Given the description of an element on the screen output the (x, y) to click on. 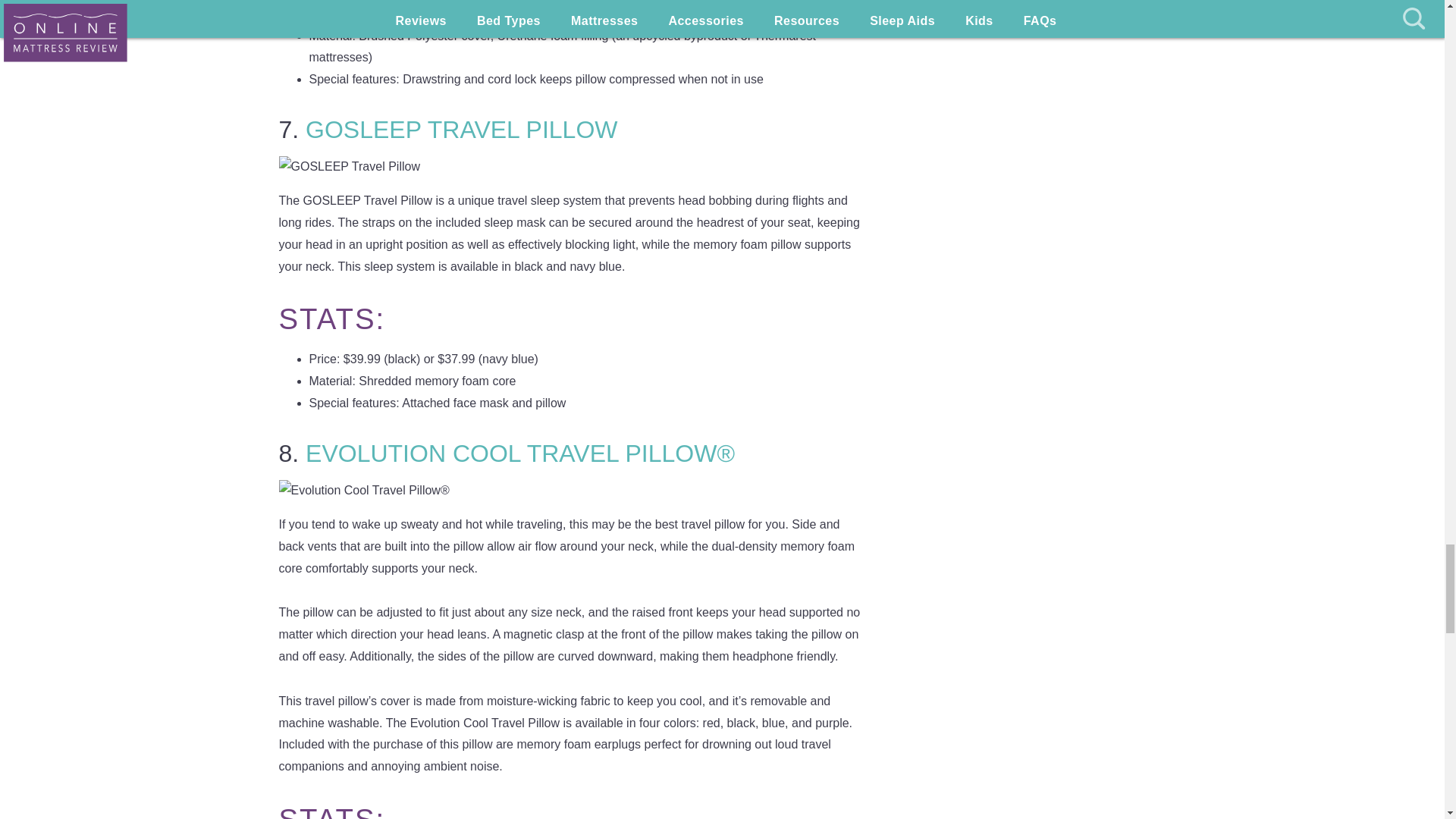
GOSLEEP TRAVEL PILLOW (461, 129)
